Given the description of an element on the screen output the (x, y) to click on. 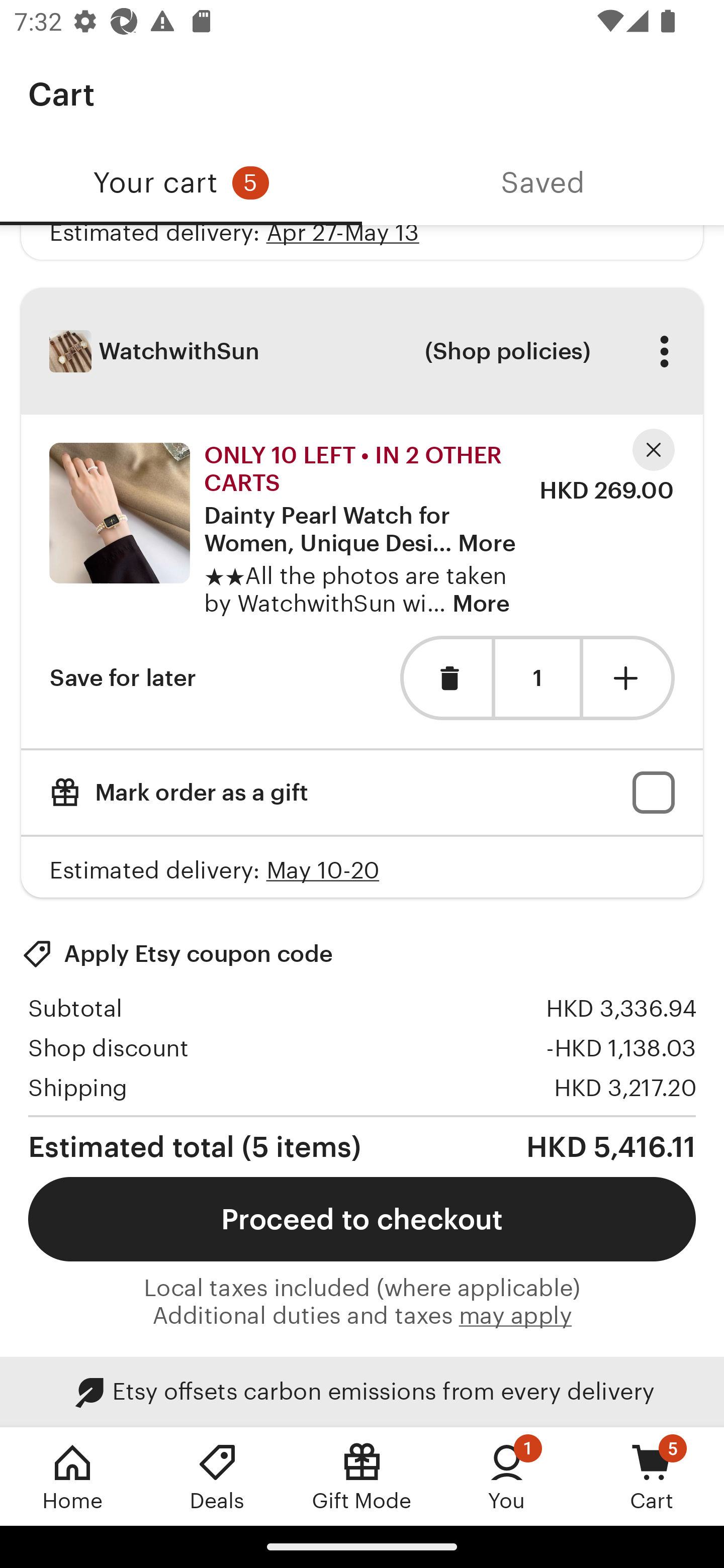
Saved, tab 2 of 2 Saved (543, 183)
WatchwithSun (Shop policies) More options (361, 350)
(Shop policies) (507, 350)
More options (663, 350)
Save for later (122, 677)
Remove item from cart (445, 677)
Add one unit to cart (628, 677)
1 (537, 678)
Mark order as a gift (361, 792)
Apply Etsy coupon code (177, 953)
Proceed to checkout (361, 1218)
Home (72, 1475)
Deals (216, 1475)
Gift Mode (361, 1475)
You, 1 new notification You (506, 1475)
